Given the description of an element on the screen output the (x, y) to click on. 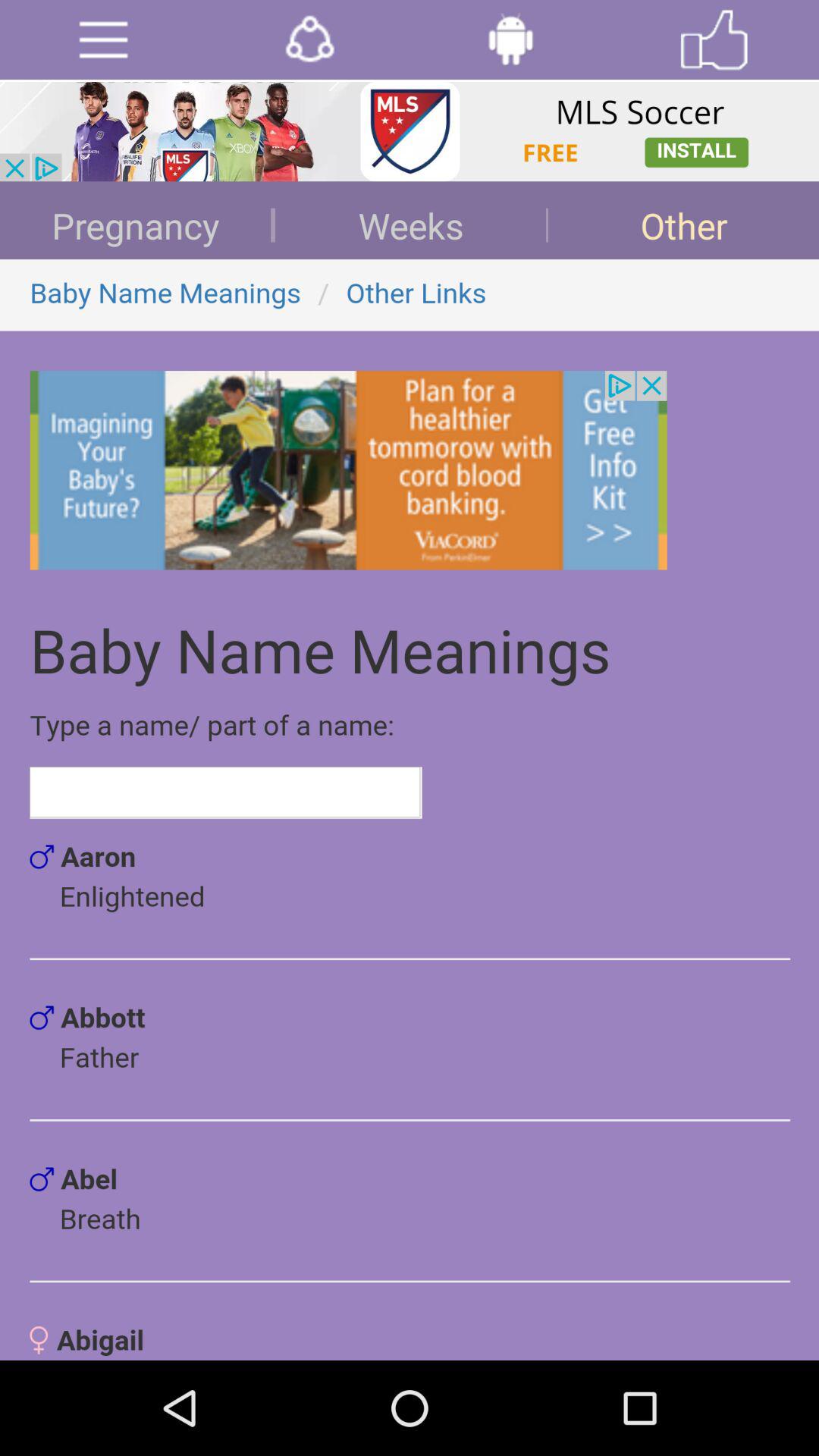
go to advertisement (103, 39)
